Given the description of an element on the screen output the (x, y) to click on. 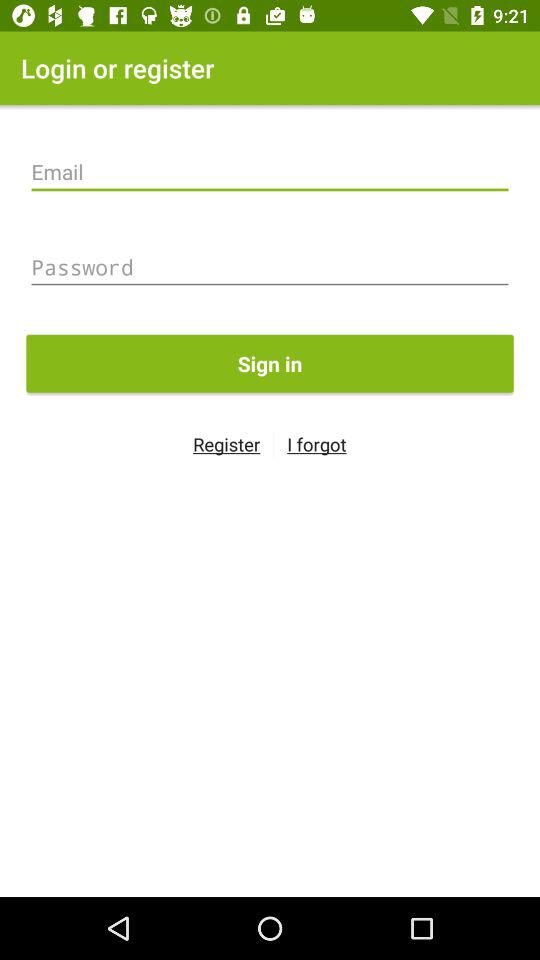
enter email address (269, 172)
